Given the description of an element on the screen output the (x, y) to click on. 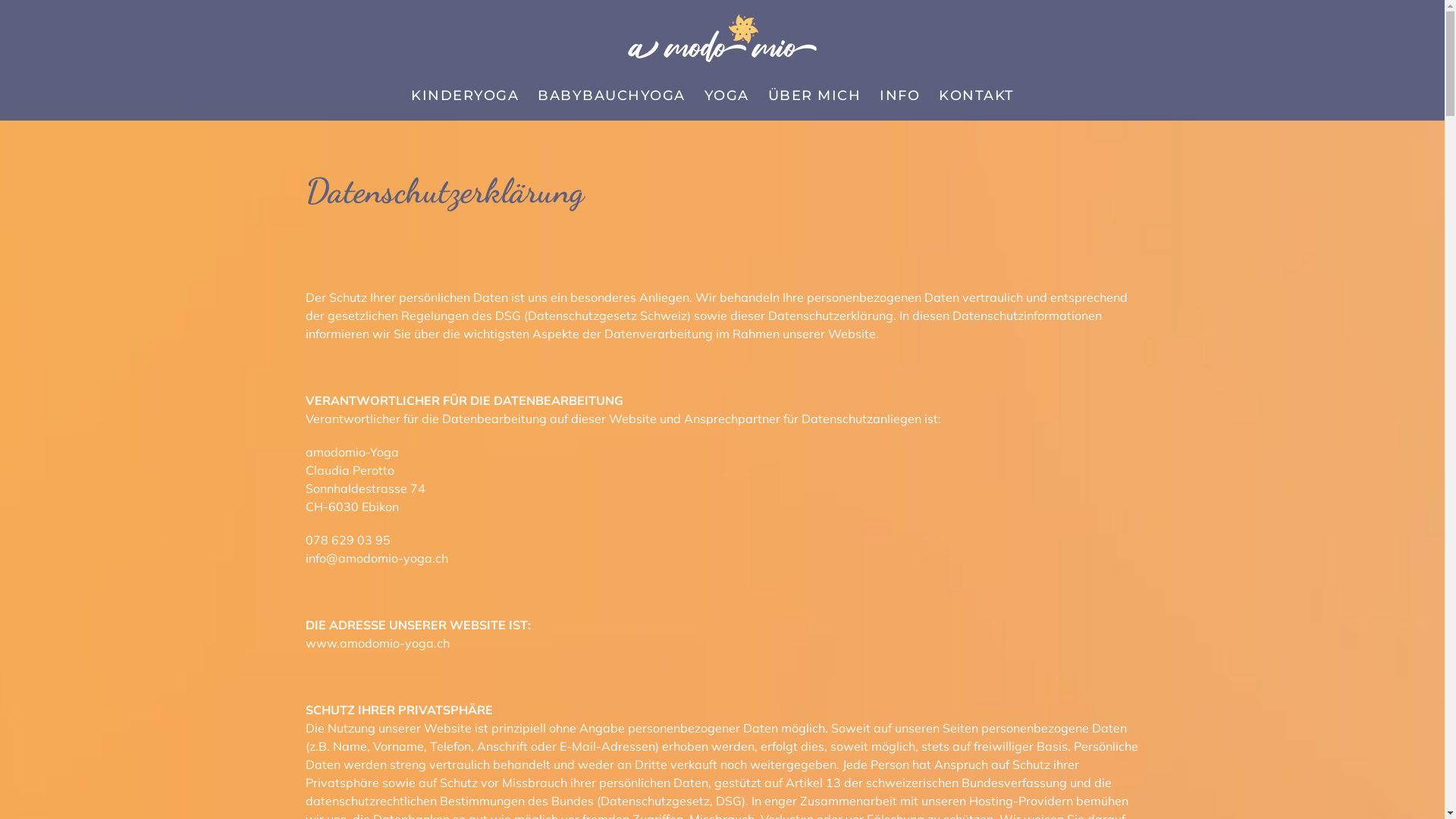
www.amodomio-yoga.ch Element type: text (376, 642)
info@amodomio-yoga.ch Element type: text (375, 557)
INFO Element type: text (899, 94)
BABYBAUCHYOGA Element type: text (611, 94)
KONTAKT Element type: text (976, 94)
YOGA Element type: text (726, 94)
KINDERYOGA Element type: text (464, 94)
